Given the description of an element on the screen output the (x, y) to click on. 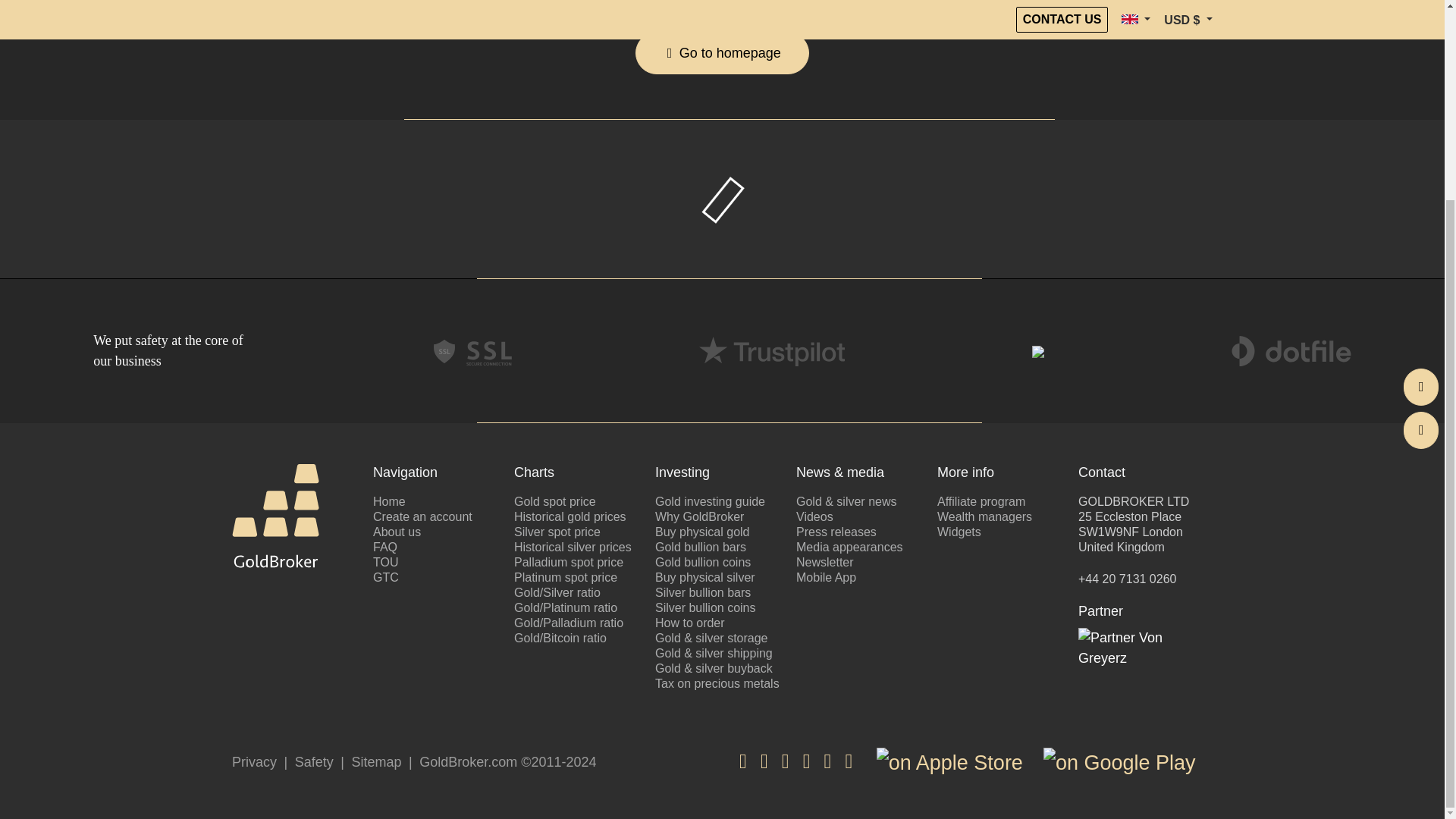
Contact Us (1420, 175)
Contact Us (1420, 131)
